Given the description of an element on the screen output the (x, y) to click on. 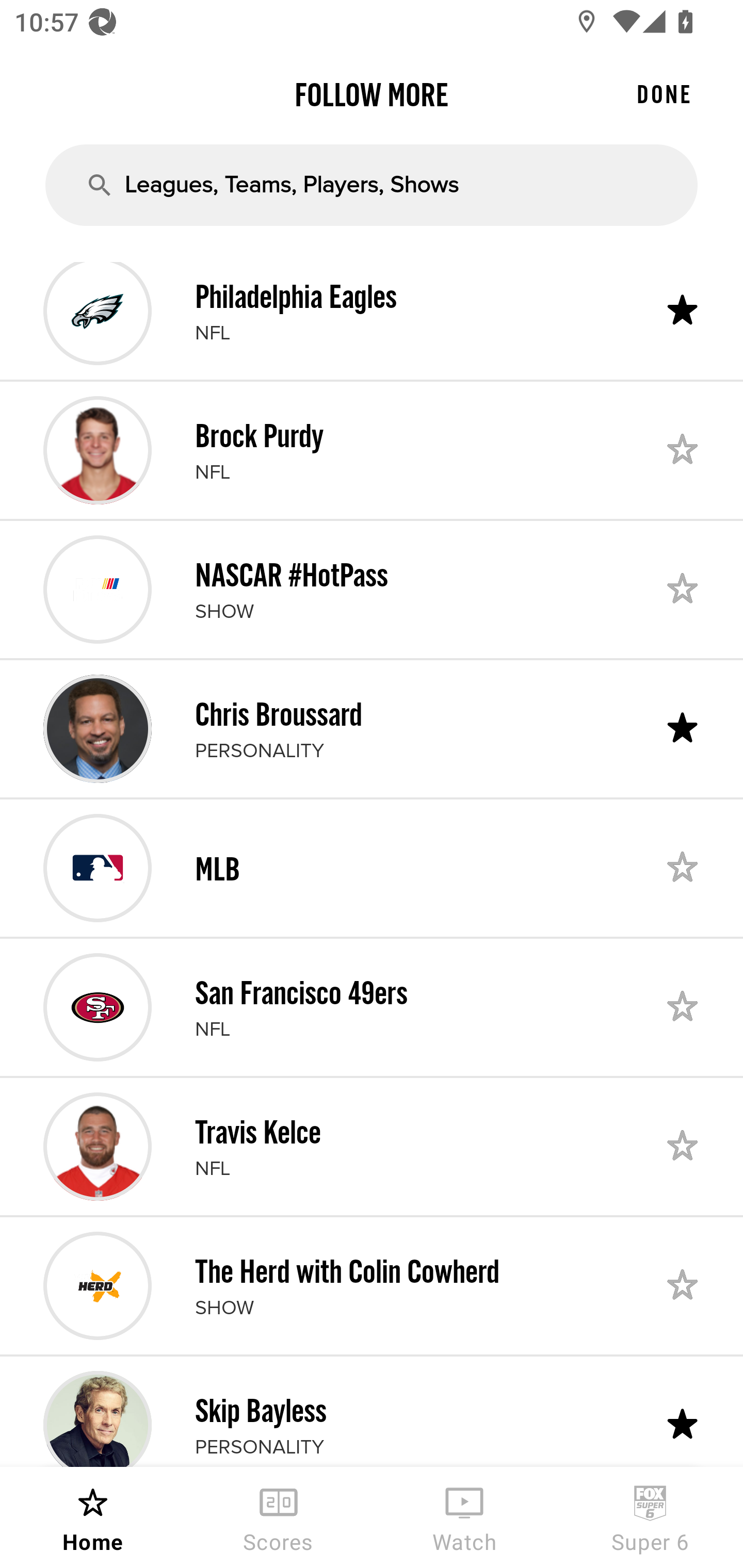
DONE (663, 93)
Leagues, Teams, Players, Shows (371, 184)
Philadelphia Eagles NFL (371, 320)
Brock Purdy NFL (371, 450)
NASCAR #HotPass SHOW (371, 589)
Chris Broussard PERSONALITY (371, 729)
MLB (371, 867)
San Francisco 49ers NFL (371, 1007)
Travis Kelce NFL (371, 1146)
The Herd with Colin Cowherd SHOW (371, 1285)
Skip Bayless PERSONALITY (371, 1411)
Scores (278, 1517)
Watch (464, 1517)
Super 6 (650, 1517)
